Given the description of an element on the screen output the (x, y) to click on. 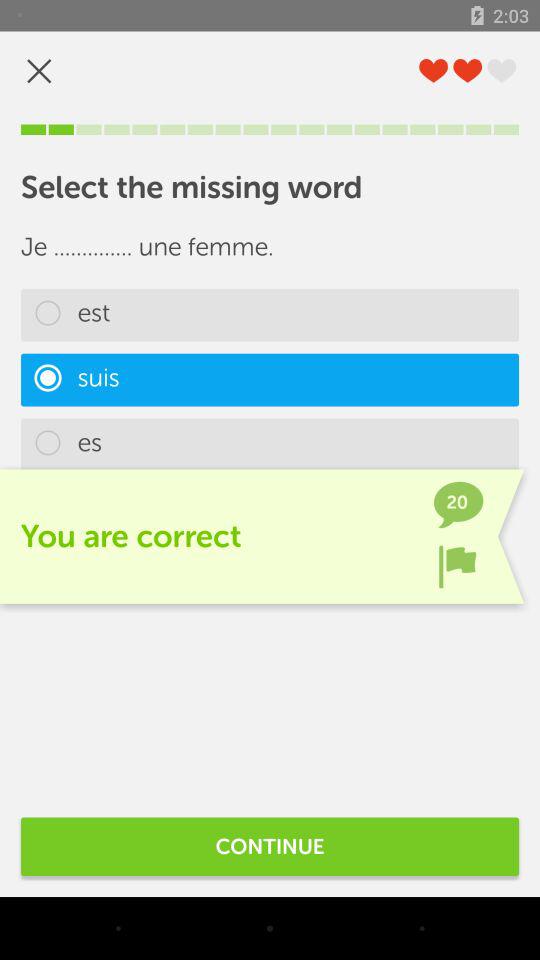
choose item above the es item (270, 379)
